Given the description of an element on the screen output the (x, y) to click on. 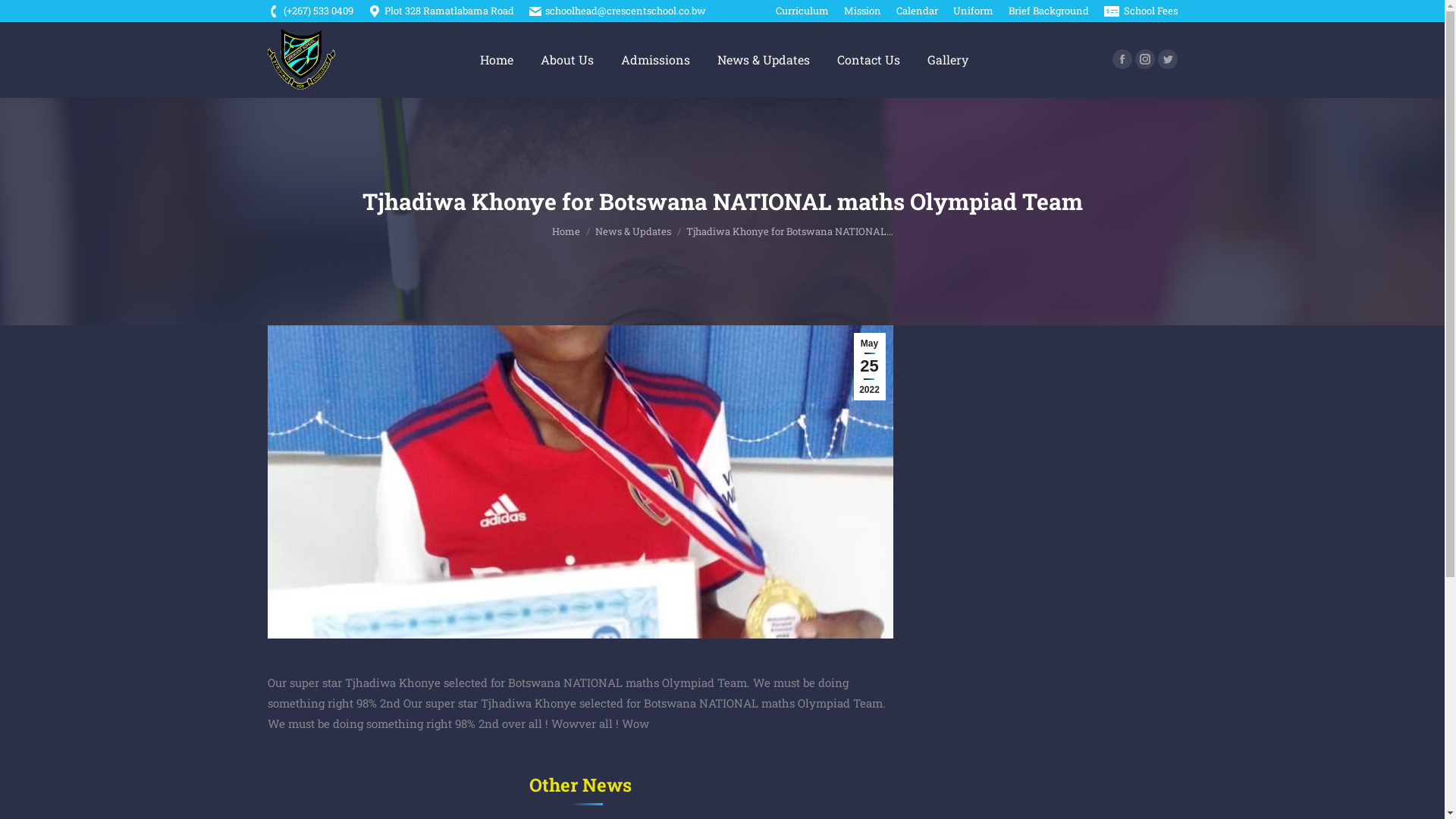
Instagram Element type: text (1144, 59)
About Us Element type: text (566, 59)
Gallery Element type: text (947, 59)
Home Element type: text (566, 231)
Contact Us Element type: text (868, 59)
Brief Background Element type: text (1048, 10)
News & Updates Element type: text (632, 231)
Admissions Element type: text (655, 59)
School Fees Element type: text (1140, 10)
Curriculum Element type: text (801, 10)
News & Updates Element type: text (763, 59)
281861274_1897552000632622_2883798905311209415_n Element type: hover (579, 481)
Calendar Element type: text (917, 10)
Home Element type: text (496, 59)
May
25
2022 Element type: text (869, 366)
Facebook Element type: text (1121, 59)
Uniform Element type: text (972, 10)
Twitter Element type: text (1166, 59)
Mission Element type: text (861, 10)
